Given the description of an element on the screen output the (x, y) to click on. 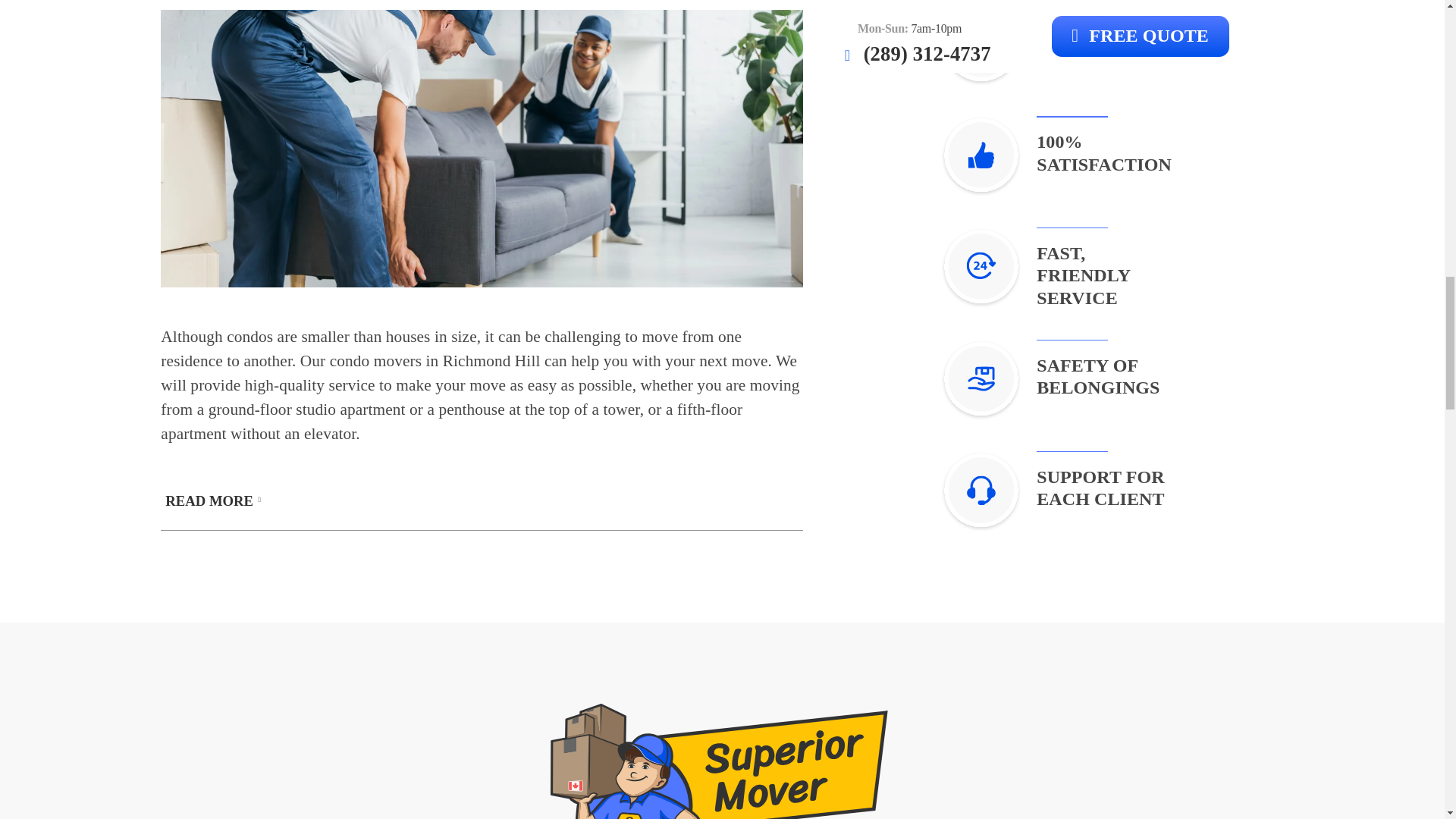
READ MORE (481, 496)
